Given the description of an element on the screen output the (x, y) to click on. 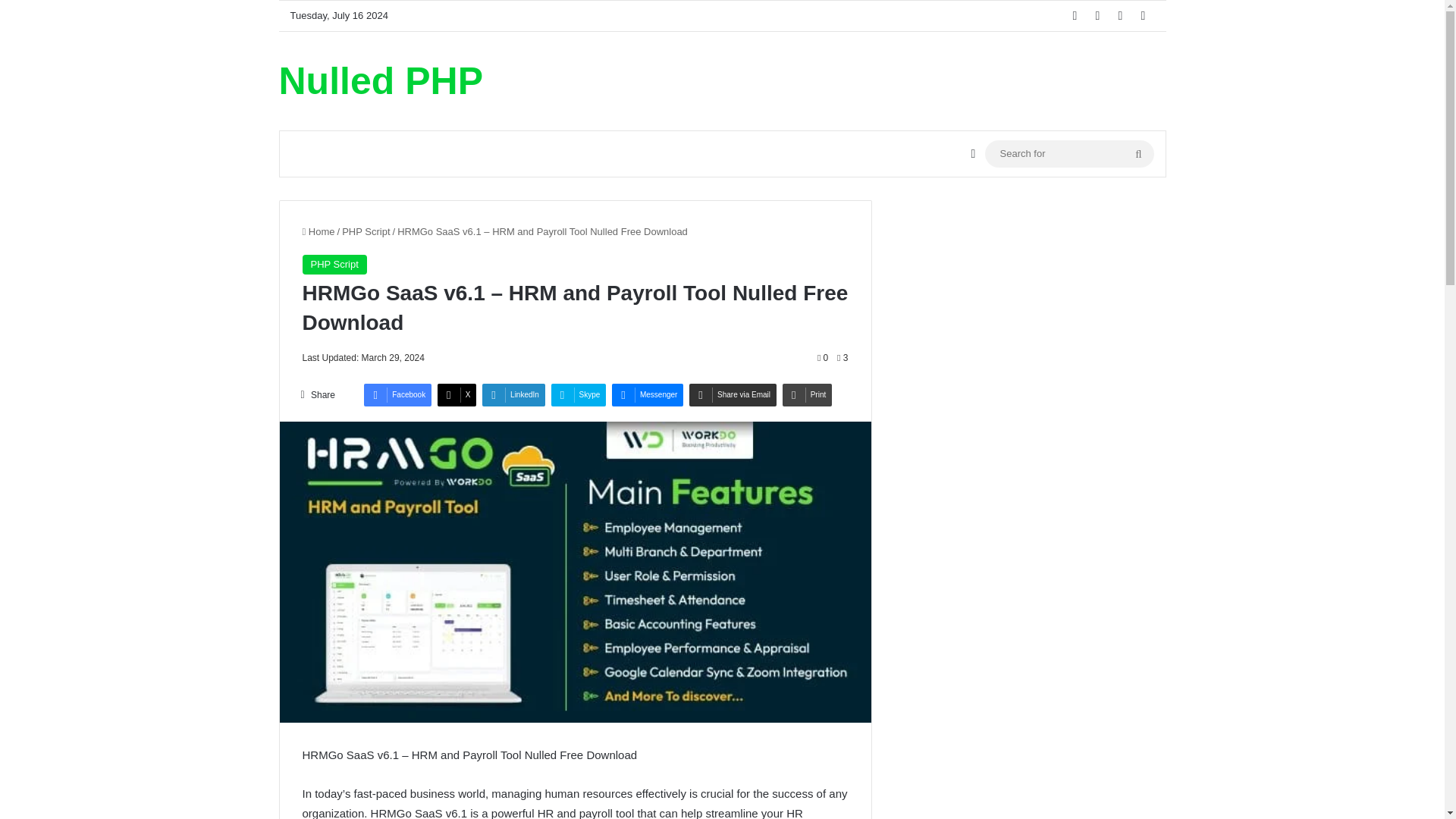
LinkedIn (512, 395)
Facebook (397, 395)
Facebook (397, 395)
Switch skin (972, 153)
Share via Email (732, 395)
Switch skin (972, 153)
YouTube (1120, 15)
PHP Script (366, 231)
Skype (579, 395)
Nulled PHP (381, 80)
LinkedIn (512, 395)
PHP Script (333, 264)
Print (807, 395)
Home (317, 231)
X (457, 395)
